Given the description of an element on the screen output the (x, y) to click on. 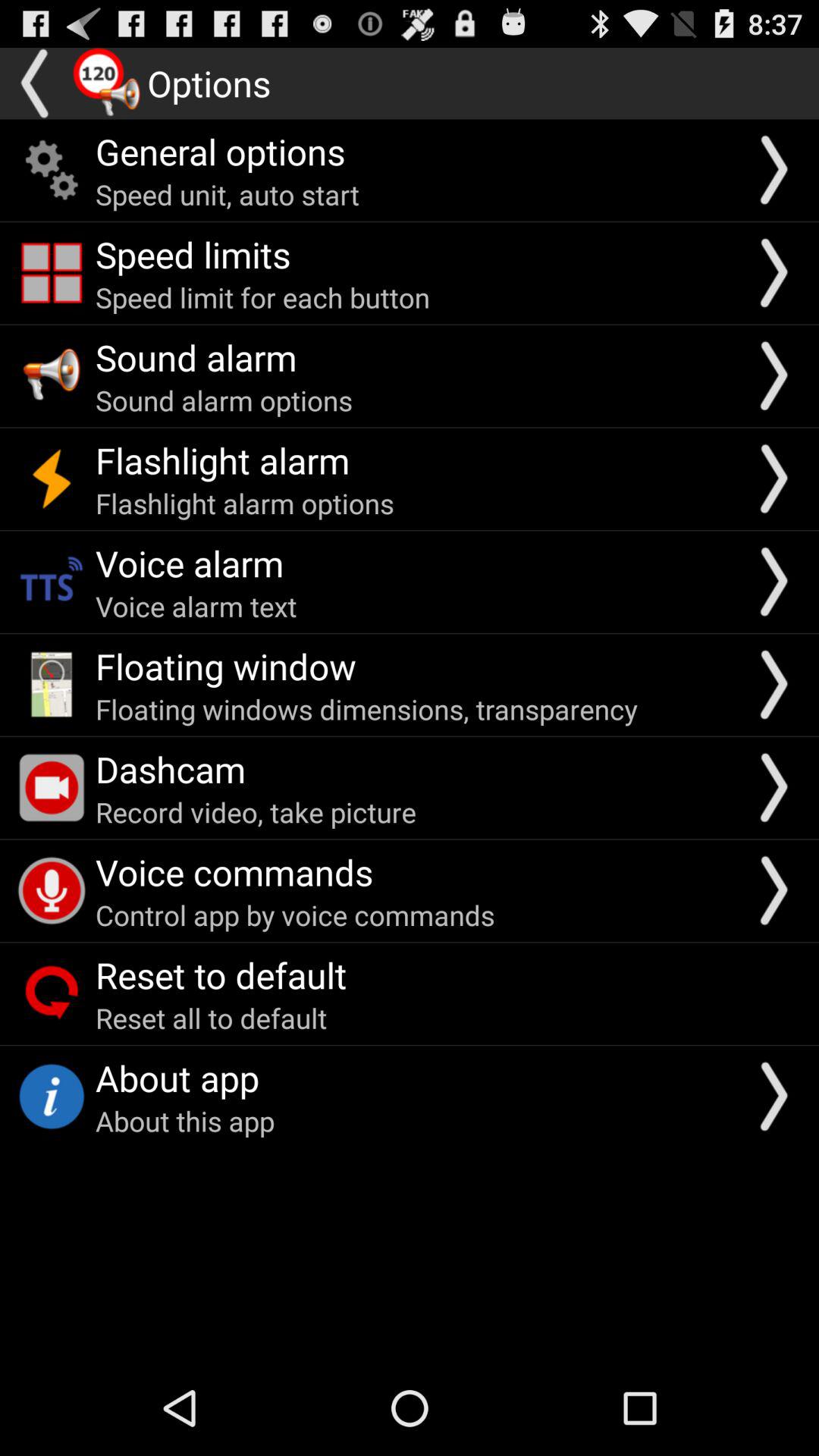
turn on the app above speed limits icon (227, 194)
